Given the description of an element on the screen output the (x, y) to click on. 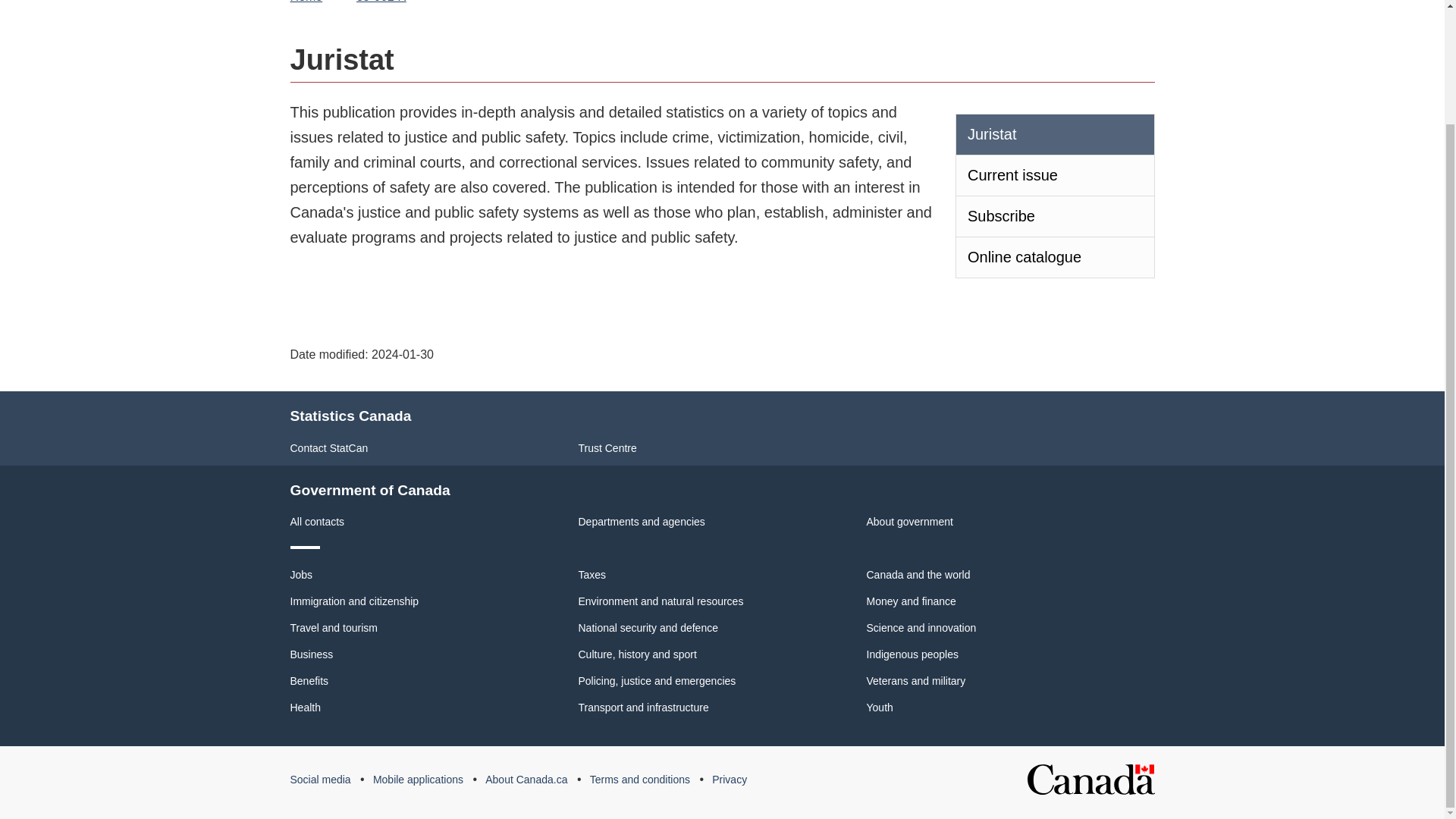
Trust Centre (607, 448)
All contacts (316, 521)
Canada and the world (917, 574)
85-002-X (381, 3)
Home (309, 3)
Environment and natural resources (660, 601)
Money and finance (910, 601)
National security and defence (647, 627)
Transport and infrastructure (642, 707)
Immigration and citizenship (354, 601)
Departments and agencies (641, 521)
Online catalogue (1054, 257)
Taxes (591, 574)
Subscribe (1054, 216)
Jobs (301, 574)
